Given the description of an element on the screen output the (x, y) to click on. 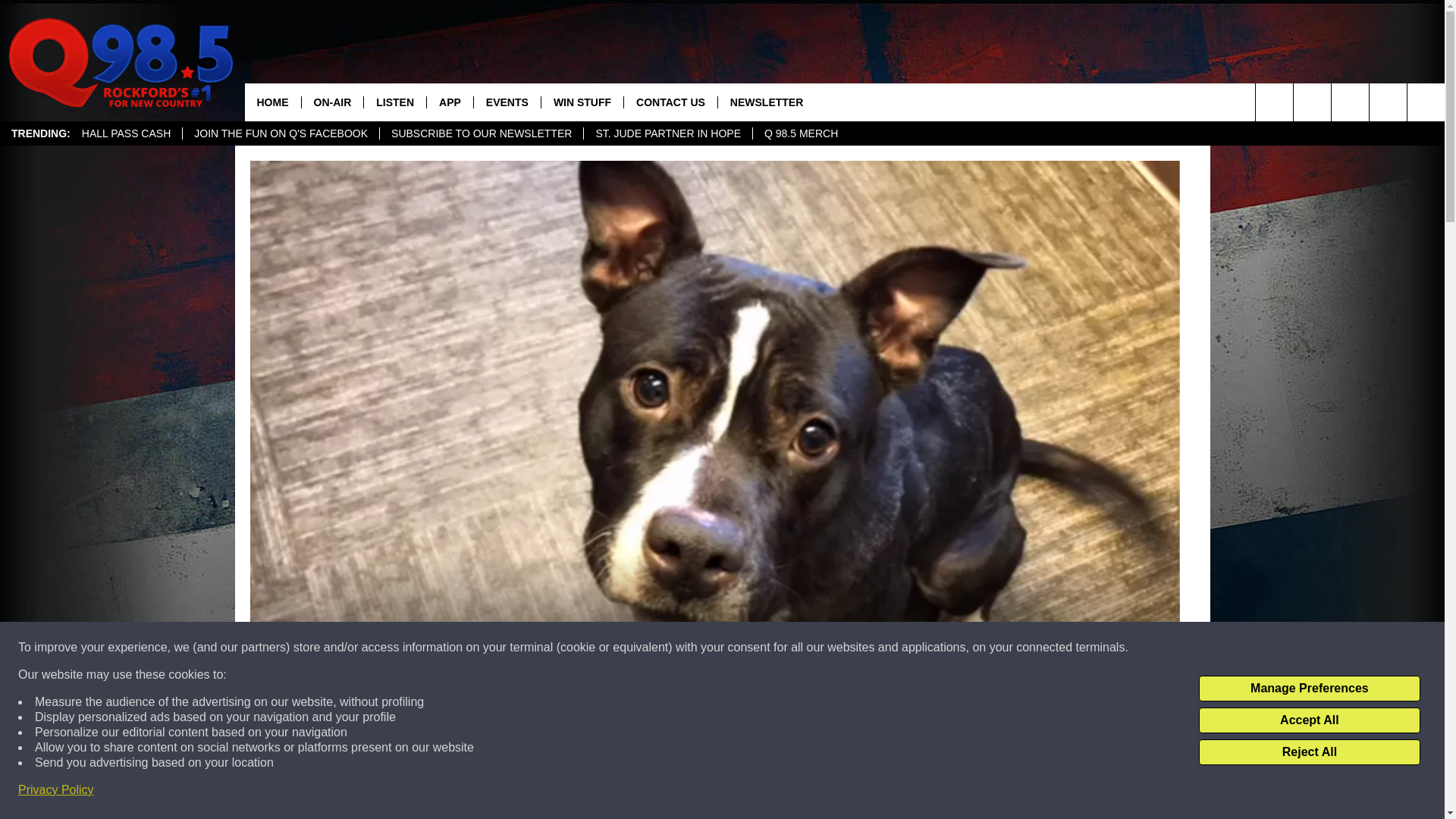
SUBSCRIBE TO OUR NEWSLETTER (480, 133)
ST. JUDE PARTNER IN HOPE (667, 133)
Accept All (1309, 720)
HALL PASS CASH (126, 133)
Reject All (1309, 751)
Privacy Policy (55, 789)
Q 98.5 MERCH (800, 133)
NEWSLETTER (766, 102)
CONTACT US (670, 102)
HOME (271, 102)
WIN STUFF (581, 102)
Share on Facebook (517, 791)
ON-AIR (330, 102)
JOIN THE FUN ON Q'S FACEBOOK (280, 133)
APP (449, 102)
